Given the description of an element on the screen output the (x, y) to click on. 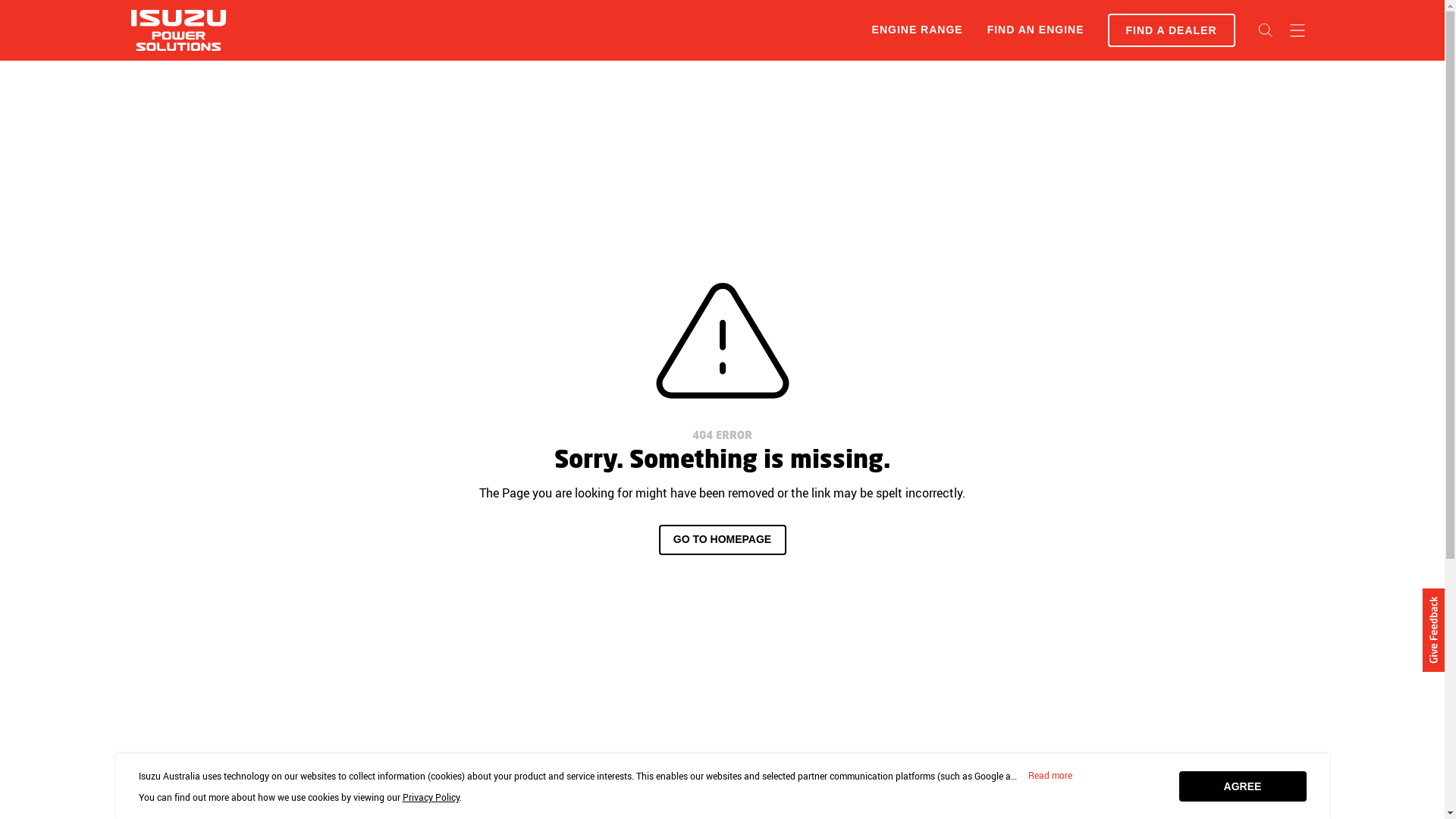
FIND AN ENGINE Element type: text (1035, 30)
AGREE Element type: text (1241, 786)
Read more Element type: text (1049, 775)
ENGINE RANGE Element type: text (917, 29)
Privacy Policy Element type: text (429, 796)
FIND A DEALER Element type: text (1170, 30)
GO TO HOMEPAGE Element type: text (721, 539)
